Given the description of an element on the screen output the (x, y) to click on. 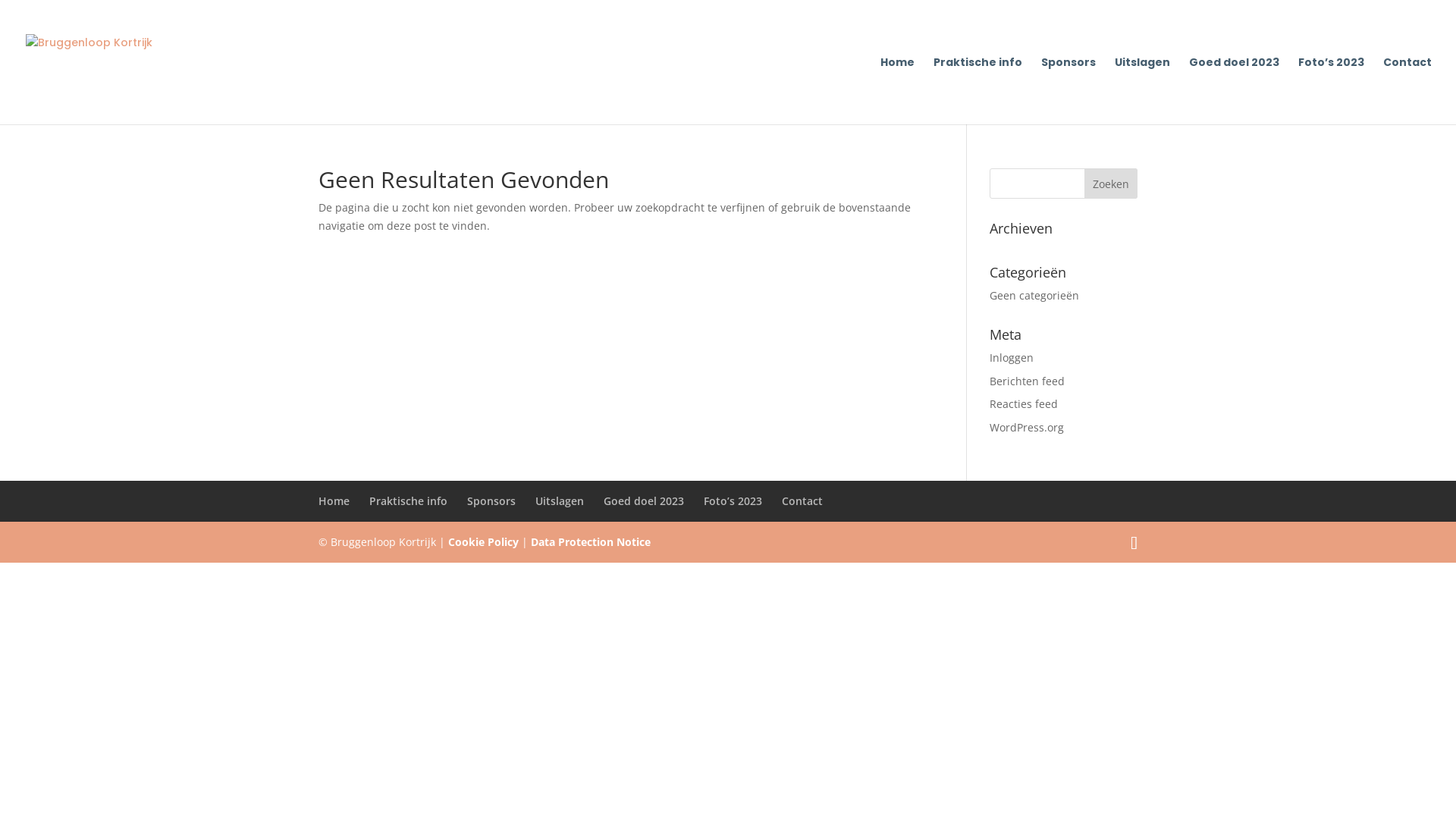
Data Protection Notice Element type: text (590, 541)
Contact Element type: text (801, 500)
Goed doel 2023 Element type: text (643, 500)
Sponsors Element type: text (1068, 90)
Praktische info Element type: text (977, 90)
Reacties feed Element type: text (1023, 403)
Cookie Policy Element type: text (483, 541)
Uitslagen Element type: text (1142, 90)
Home Element type: text (897, 90)
Zoeken Element type: text (1110, 183)
Contact Element type: text (1407, 90)
Berichten feed Element type: text (1026, 380)
Inloggen Element type: text (1011, 357)
Uitslagen Element type: text (559, 500)
Home Element type: text (333, 500)
Praktische info Element type: text (408, 500)
WordPress.org Element type: text (1026, 427)
Sponsors Element type: text (491, 500)
Goed doel 2023 Element type: text (1234, 90)
